Given the description of an element on the screen output the (x, y) to click on. 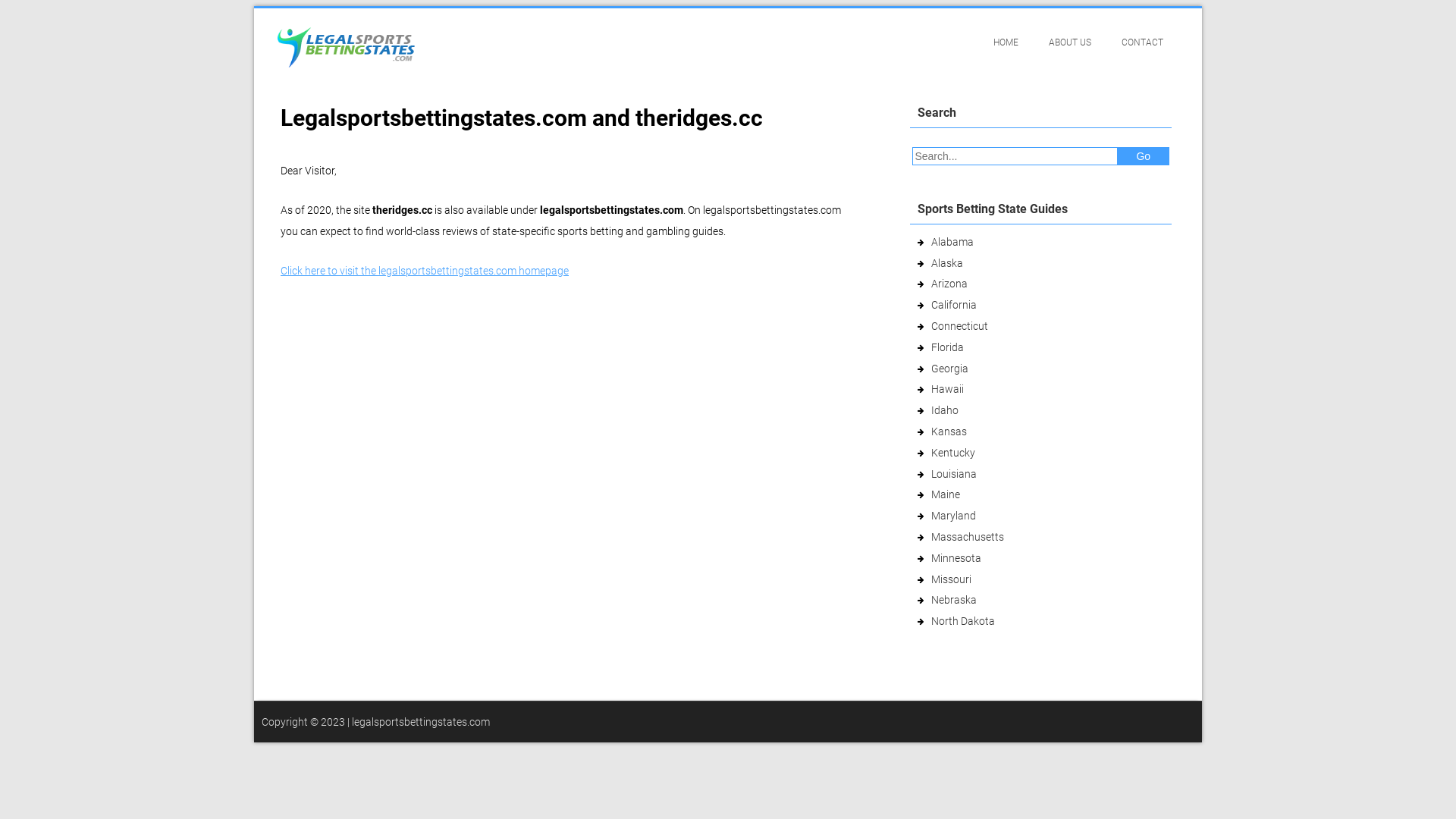
Kentucky Element type: text (953, 452)
Florida Element type: text (947, 347)
Nebraska Element type: text (953, 599)
Alabama Element type: text (952, 241)
Minnesota Element type: text (956, 558)
North Dakota Element type: text (962, 621)
Alaska Element type: text (947, 263)
Louisiana Element type: text (953, 473)
California Element type: text (953, 304)
legalsportsbettingstates.com Element type: text (420, 721)
Georgia Element type: text (949, 368)
ABOUT US Element type: text (1069, 43)
CONTACT Element type: text (1142, 43)
Connecticut Element type: text (959, 326)
HOME Element type: text (1005, 43)
Massachusetts Element type: text (967, 536)
Maine Element type: text (945, 494)
Maryland Element type: text (953, 515)
Missouri Element type: text (951, 579)
Kansas Element type: text (948, 431)
Arizona Element type: text (949, 283)
Idaho Element type: text (944, 410)
Go Element type: text (1143, 156)
Hawaii Element type: text (947, 388)
